Given the description of an element on the screen output the (x, y) to click on. 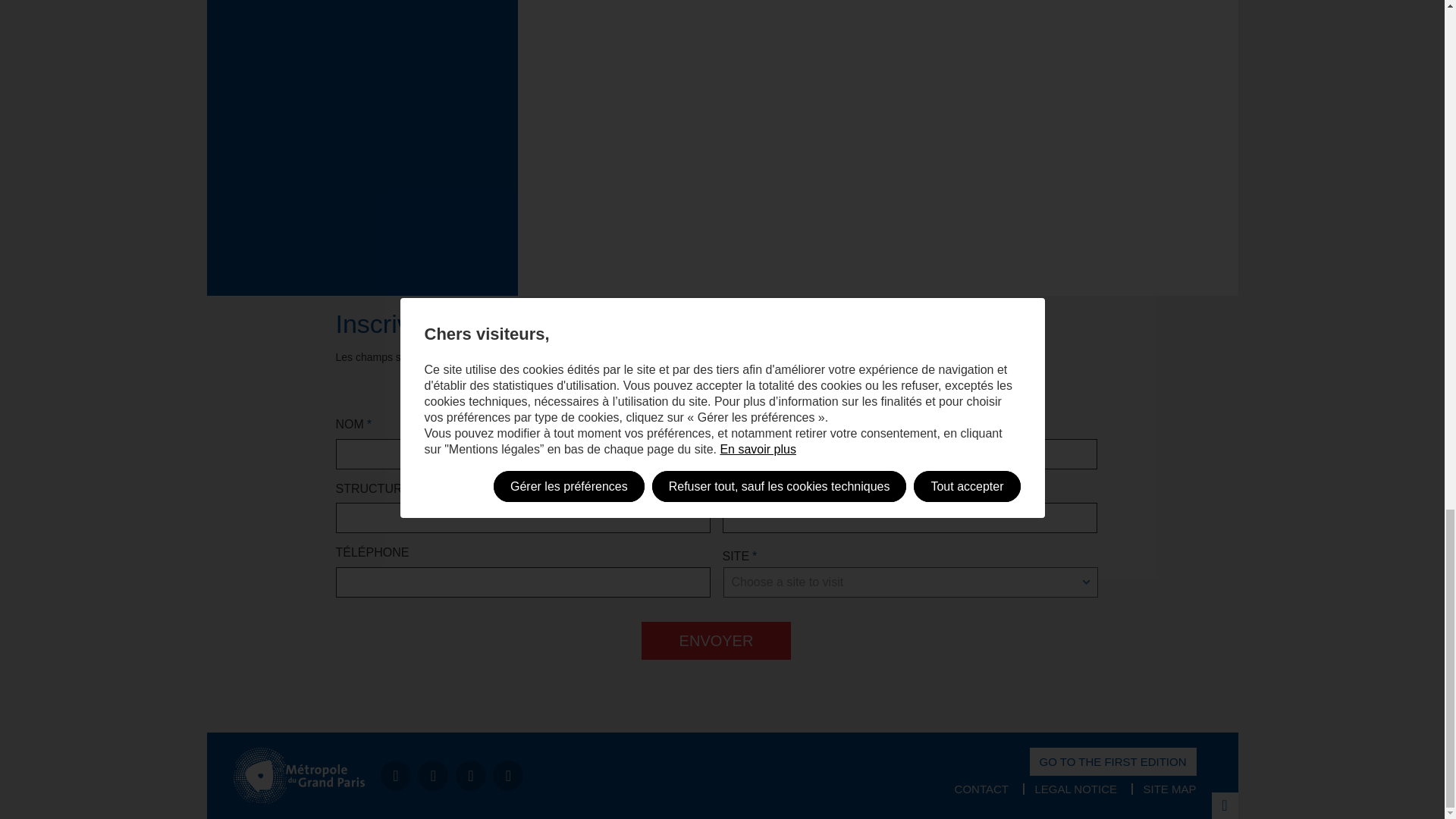
Envoyer (717, 640)
